Given the description of an element on the screen output the (x, y) to click on. 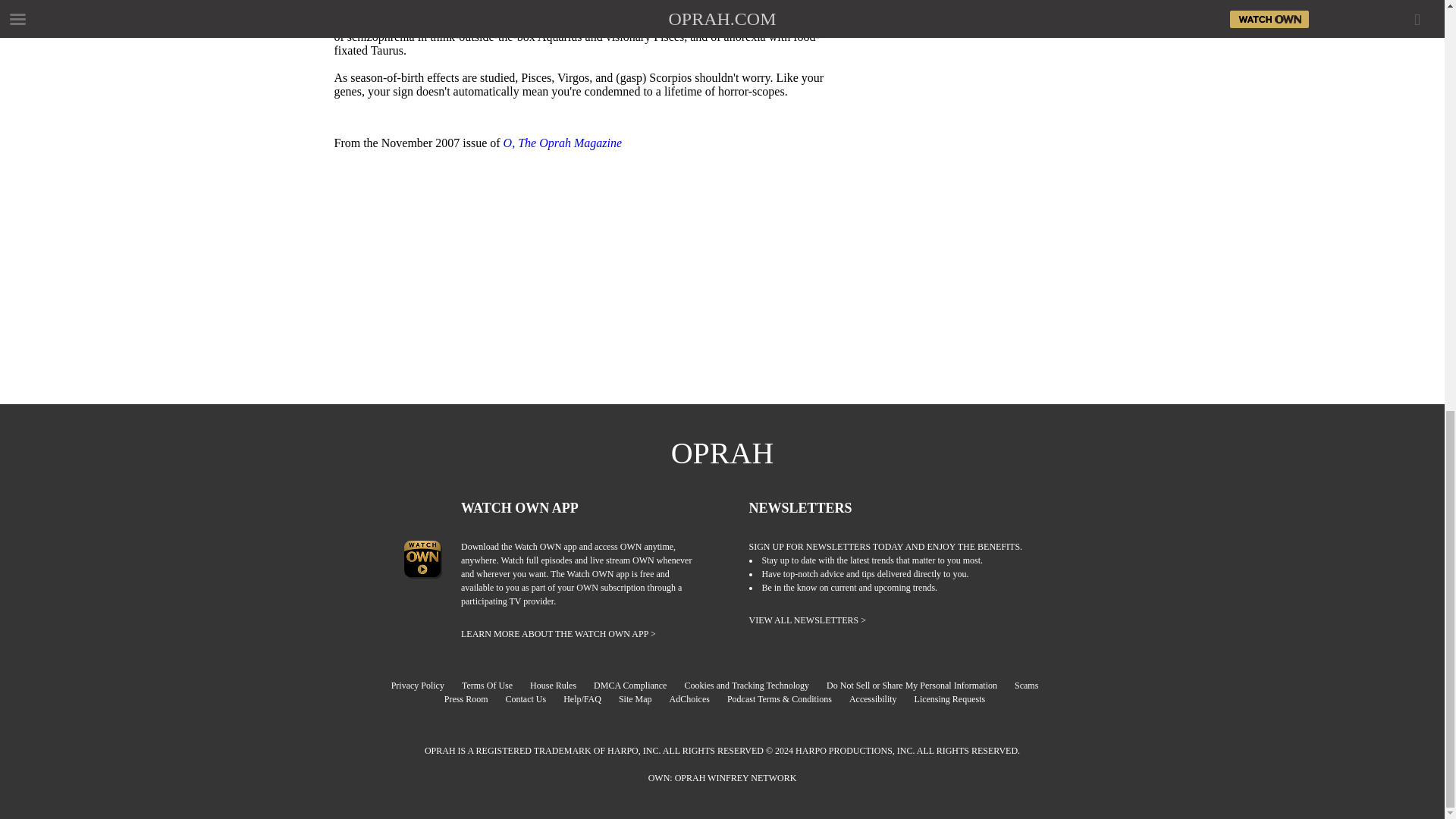
OPRAH (722, 453)
Accessibility (880, 698)
Privacy Policy (425, 685)
Cookies and Tracking Technology (754, 685)
AdChoices (697, 698)
O, The Oprah Magazine (562, 142)
DMCA Compliance (637, 685)
House Rules (560, 685)
Terms Of Use (494, 685)
Scams (1033, 685)
Site Map (642, 698)
Licensing Requests (957, 698)
Press Room (473, 698)
Do Not Sell or Share My Personal Information (919, 685)
Contact Us (532, 698)
